Given the description of an element on the screen output the (x, y) to click on. 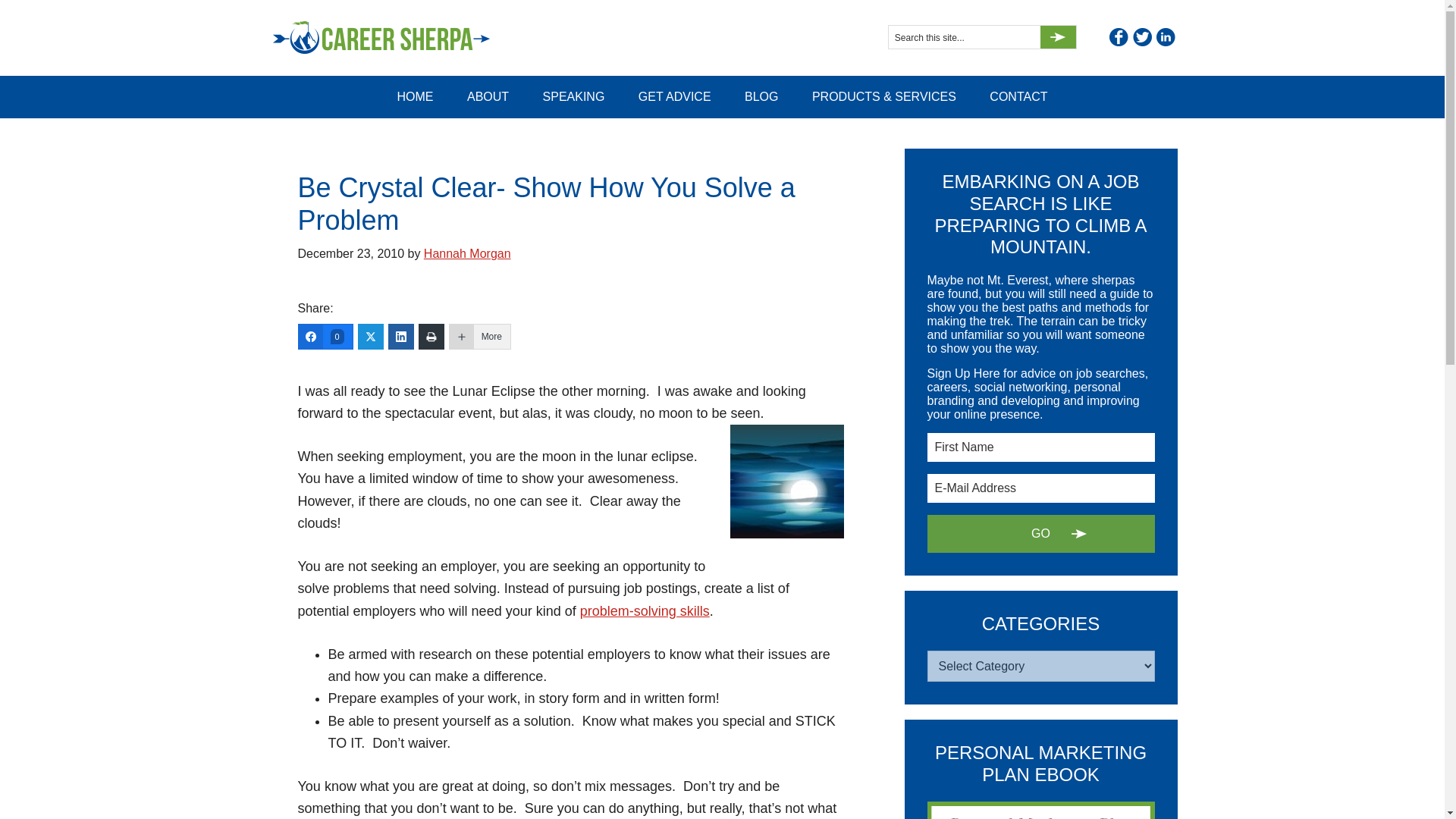
Go (1040, 533)
GET ADVICE (674, 96)
Go (1058, 36)
0 (324, 336)
CONTACT (1018, 96)
Linkedin (1165, 36)
Twitter (1141, 36)
ABOUT (487, 96)
00441149 (786, 481)
Go (1058, 36)
HOME (414, 96)
Facebook (1117, 36)
problem-solving skills (644, 611)
BLOG (761, 96)
